Given the description of an element on the screen output the (x, y) to click on. 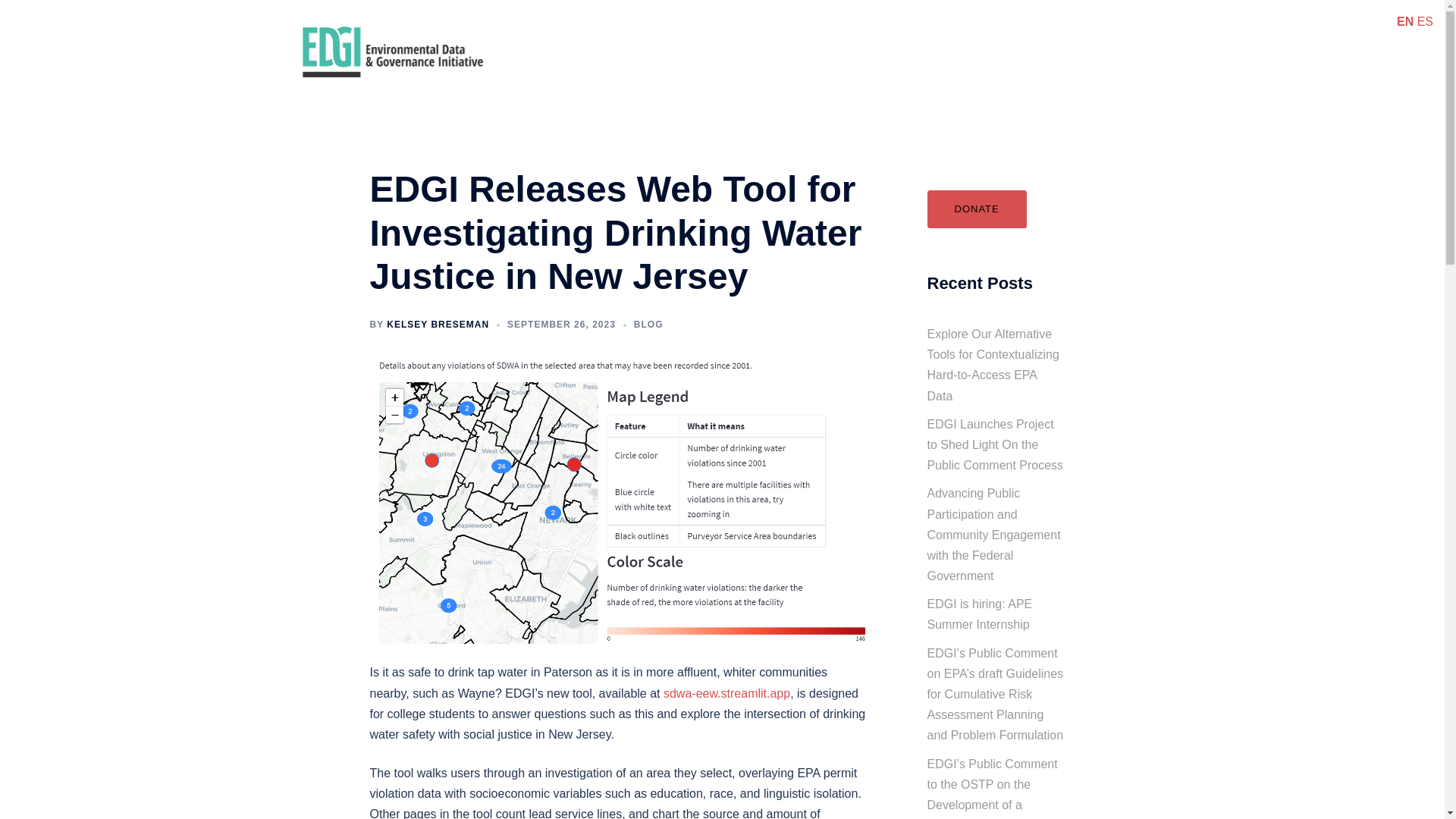
English (1404, 21)
Publications (760, 39)
KELSEY BRESEMAN (438, 324)
Press (917, 39)
Environmental Data and Governance Initiative (392, 51)
Donate (551, 64)
SEPTEMBER 26, 2023 (560, 324)
Projects (849, 39)
Volunteer (1042, 39)
About (547, 39)
